Given the description of an element on the screen output the (x, y) to click on. 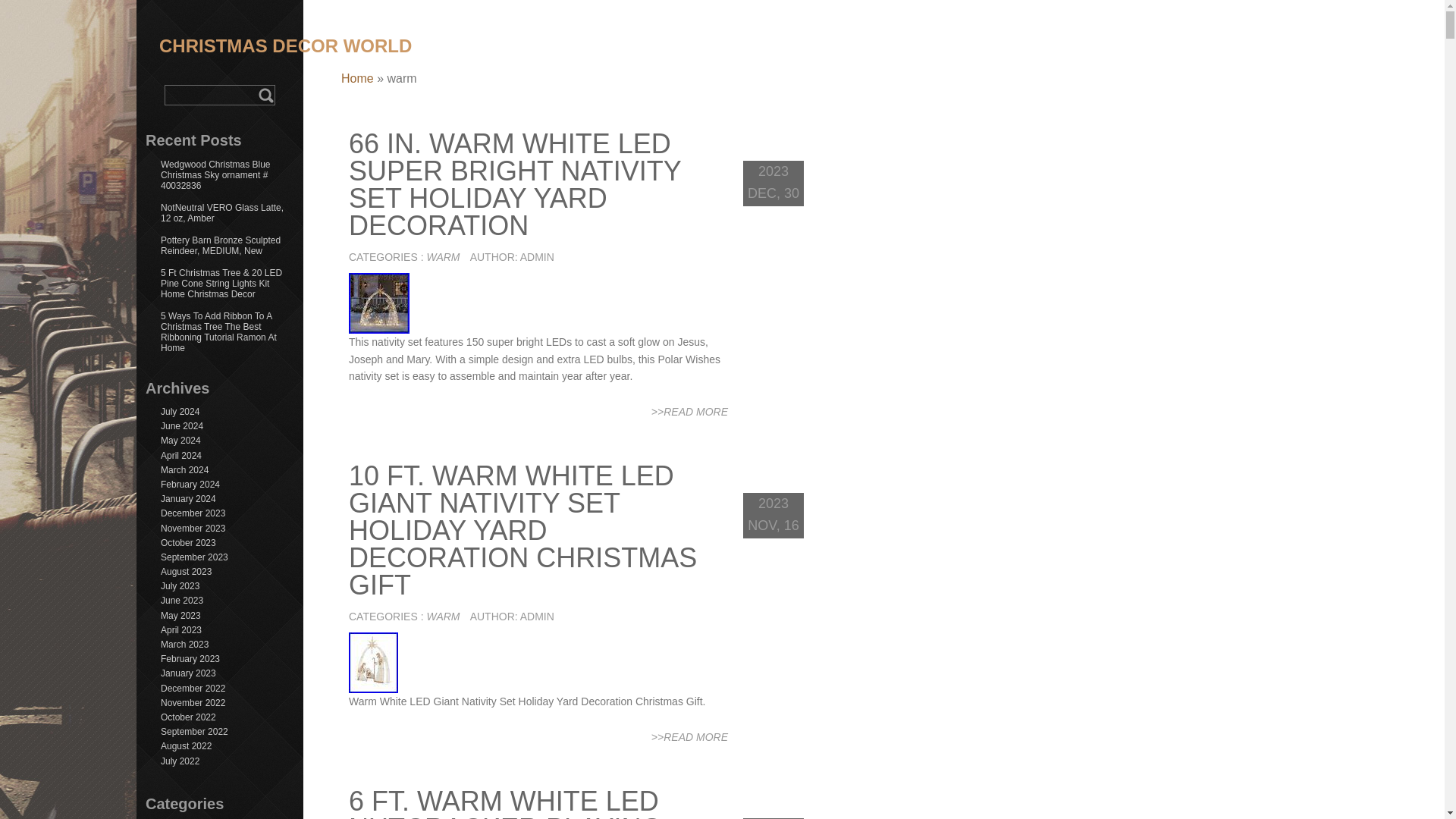
CHRISTMAS DECOR WORLD (285, 39)
WARM (443, 616)
Home (357, 78)
WARM (443, 256)
